Given the description of an element on the screen output the (x, y) to click on. 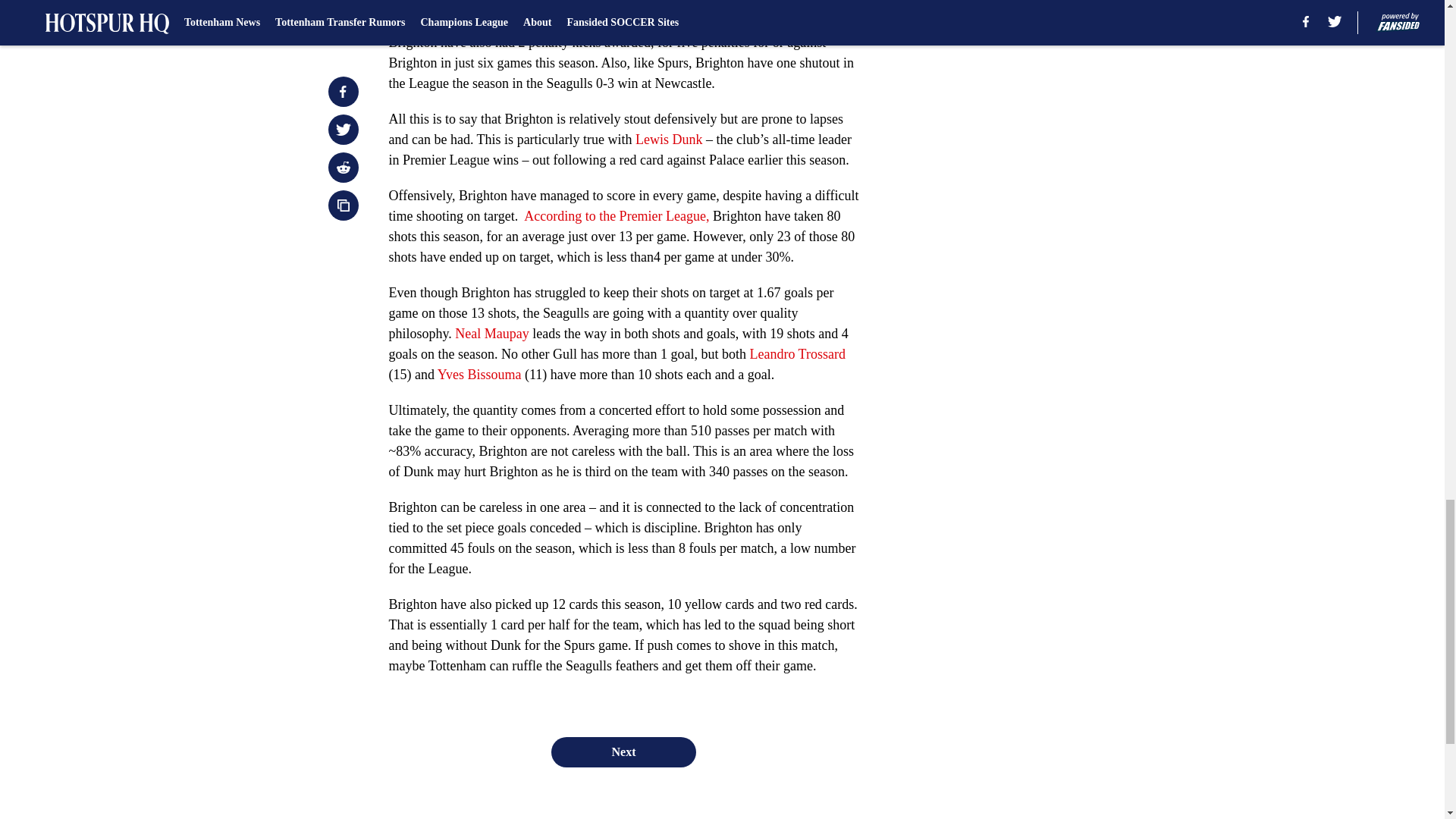
Yves Bissouma (479, 374)
According to the Premier League, (616, 215)
Next (622, 752)
Lewis Dunk (668, 139)
Leandro Trossard (797, 353)
Neal Maupay (491, 333)
